Given the description of an element on the screen output the (x, y) to click on. 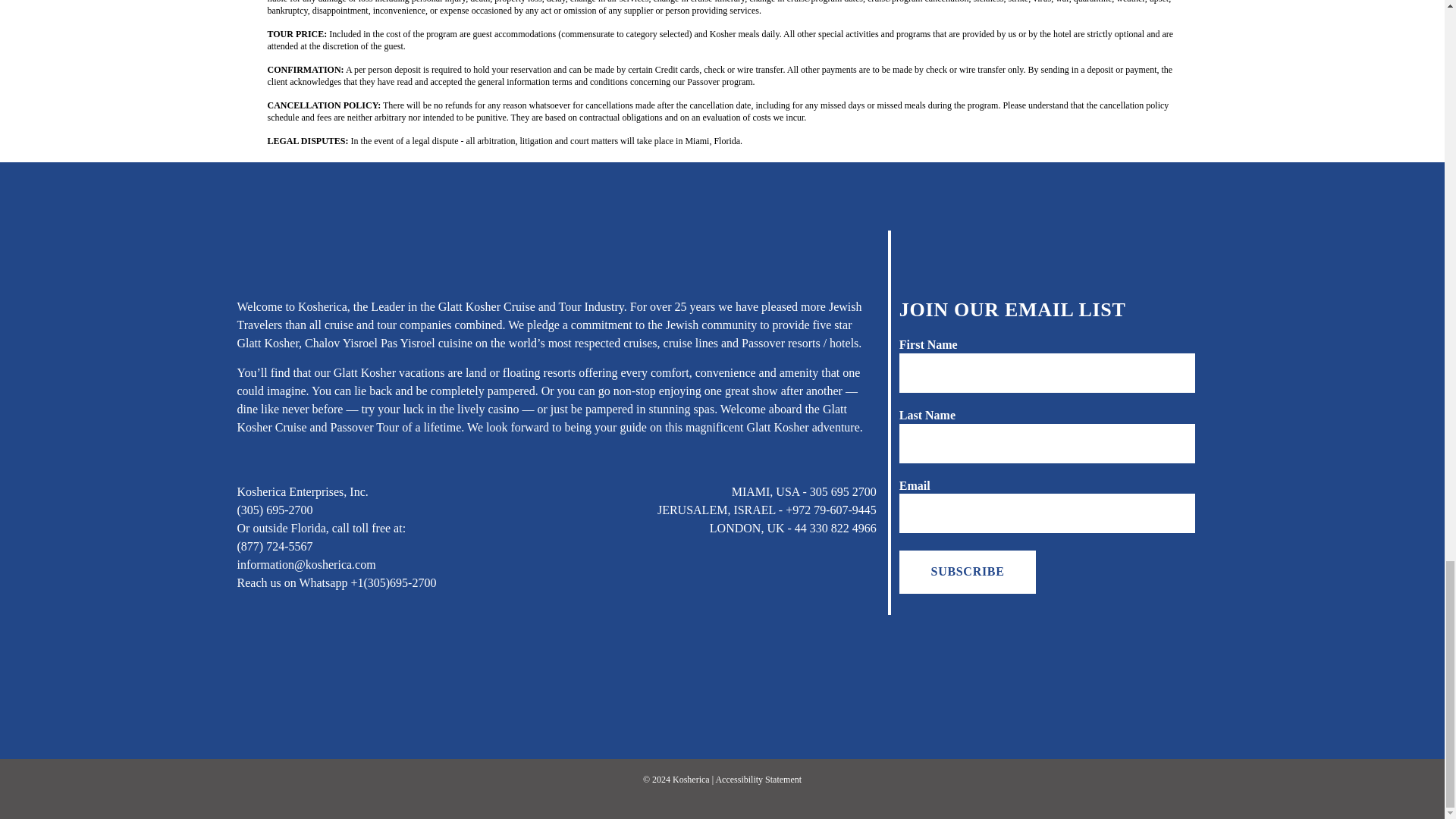
SUBSCRIBE (967, 571)
